Given the description of an element on the screen output the (x, y) to click on. 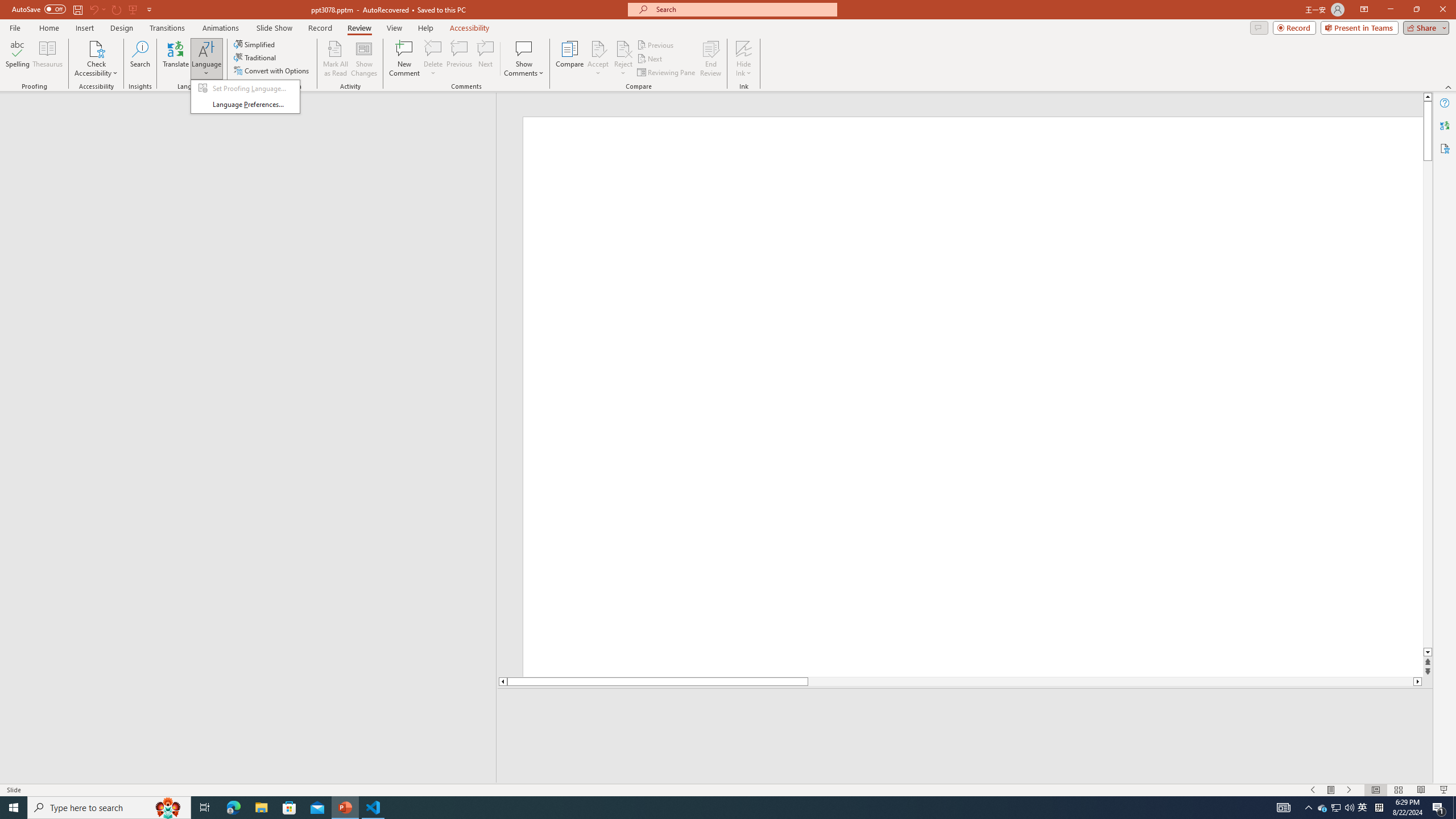
AutomationID: 4105 (1283, 807)
File Explorer (261, 807)
Translator (1444, 125)
Reviewing Pane (666, 72)
Mark All as Read (335, 58)
Notification Chevron (1308, 807)
Microsoft search (742, 9)
Action Center, 1 new notification (1439, 807)
